Given the description of an element on the screen output the (x, y) to click on. 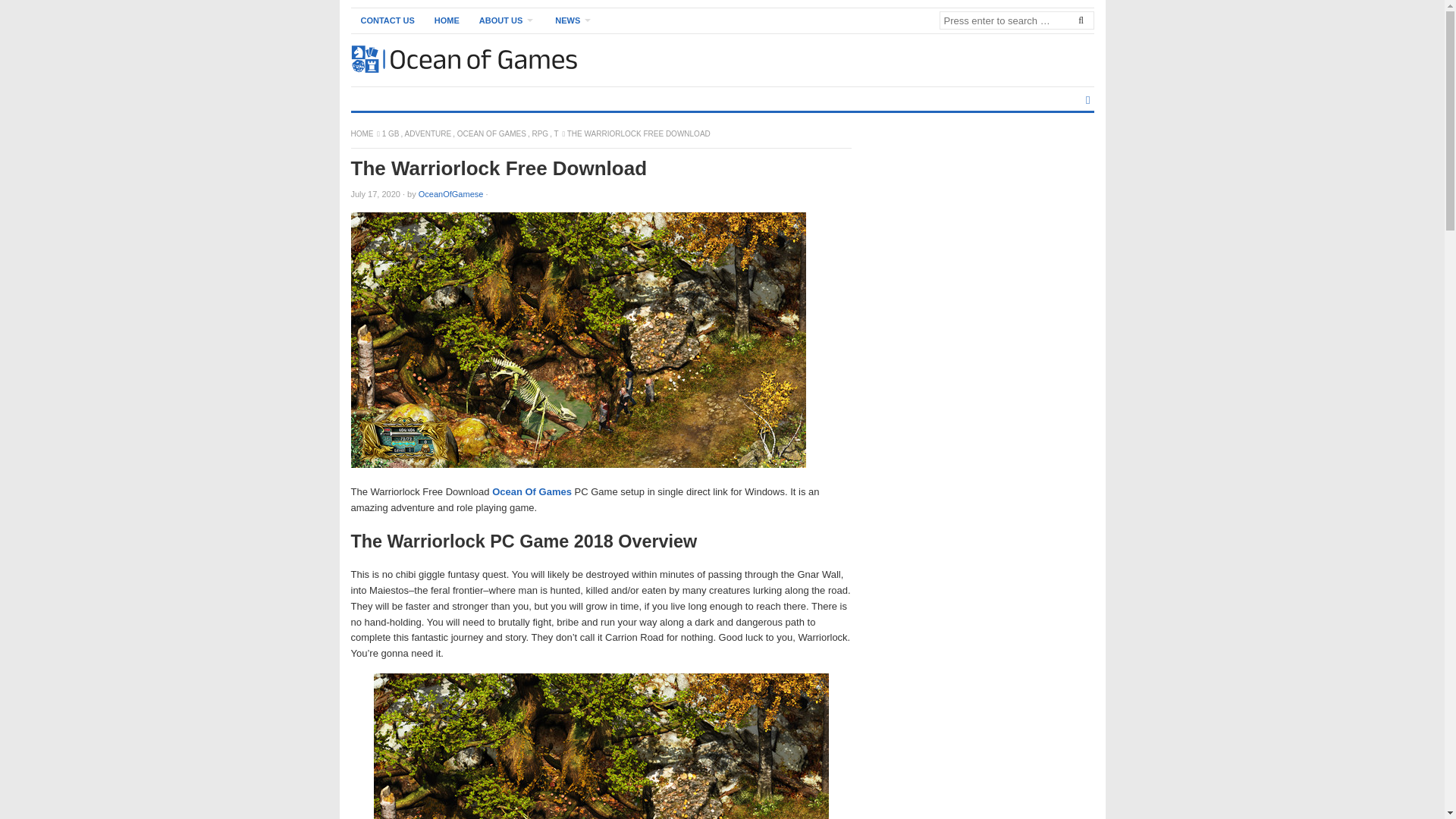
RPG (540, 133)
OceanOfGamese (451, 194)
1 GB (391, 133)
HOME (446, 20)
Ocean Of Games (532, 491)
Search for: (1016, 20)
NEWS (573, 20)
ABOUT US (506, 20)
OCEAN OF GAMES (492, 133)
CONTACT US (386, 20)
